Given the description of an element on the screen output the (x, y) to click on. 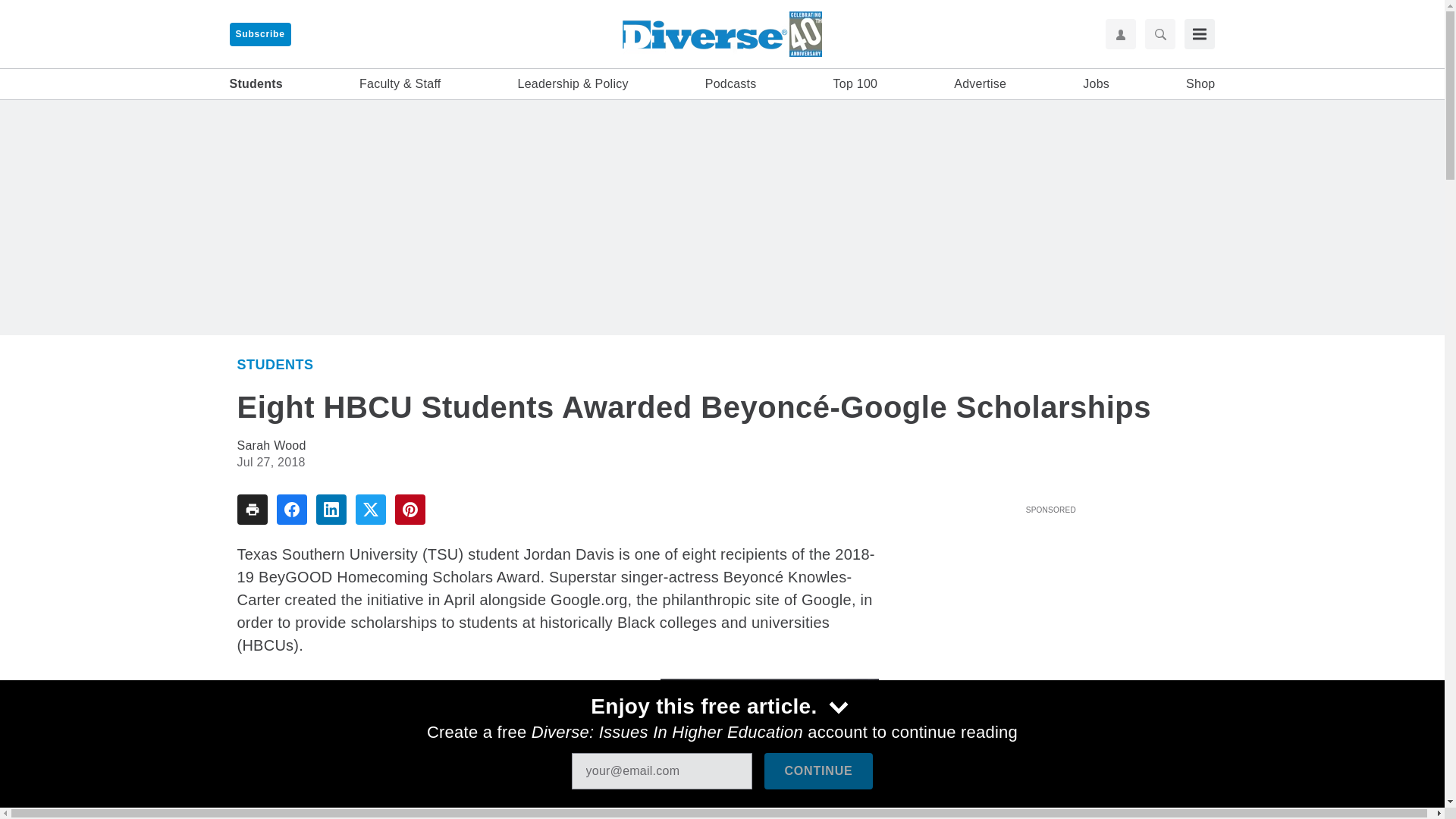
Share To print (250, 509)
Top 100 (854, 84)
Subscribe (258, 33)
Share To twitter (370, 509)
Share To linkedin (330, 509)
Share To pinterest (409, 509)
Share To facebook (290, 509)
Students (255, 84)
Shop (1200, 84)
Jobs (1096, 84)
Podcasts (730, 84)
Subscribe (258, 33)
Students (274, 364)
Advertise (979, 84)
